Given the description of an element on the screen output the (x, y) to click on. 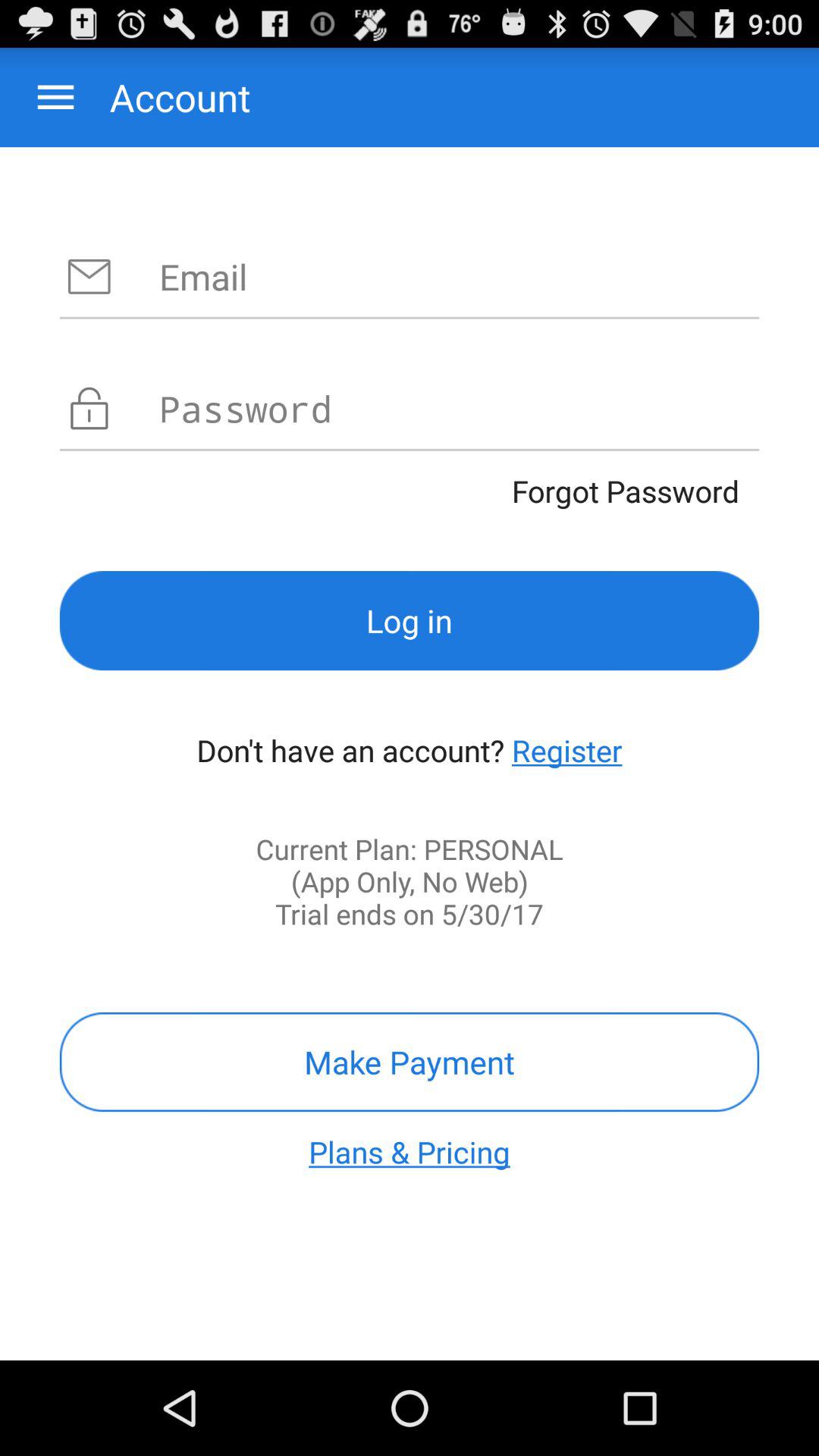
scroll until plans & pricing app (409, 1151)
